Given the description of an element on the screen output the (x, y) to click on. 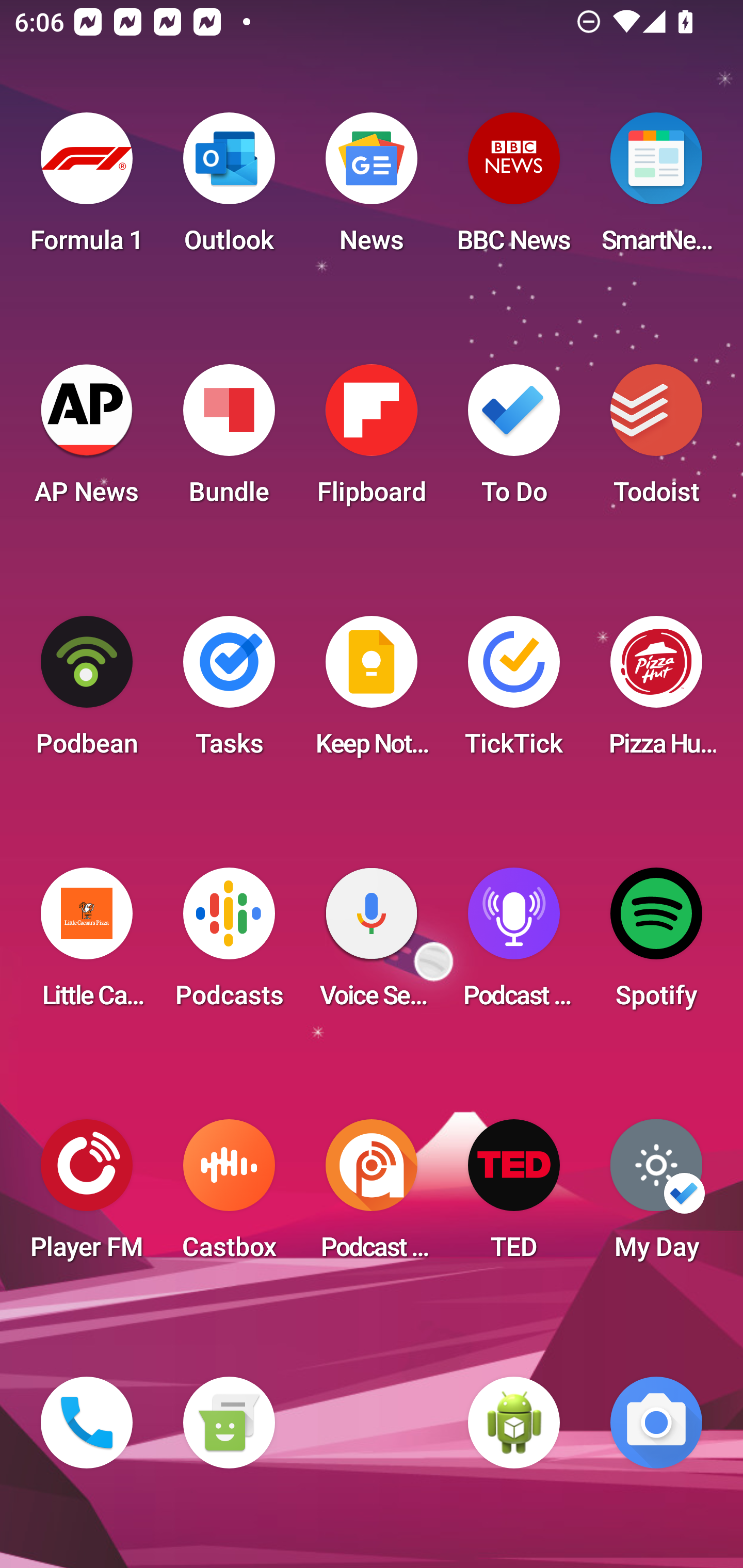
Formula 1 (86, 188)
Outlook (228, 188)
News (371, 188)
BBC News (513, 188)
SmartNews (656, 188)
AP News (86, 440)
Bundle (228, 440)
Flipboard (371, 440)
To Do (513, 440)
Todoist (656, 440)
Podbean (86, 692)
Tasks (228, 692)
Keep Notes (371, 692)
TickTick (513, 692)
Pizza Hut HK & Macau (656, 692)
Little Caesars Pizza (86, 943)
Podcasts (228, 943)
Voice Search (371, 943)
Podcast Player (513, 943)
Spotify (656, 943)
Player FM (86, 1195)
Castbox (228, 1195)
Podcast Addict (371, 1195)
TED (513, 1195)
My Day (656, 1195)
Phone (86, 1422)
Messaging (228, 1422)
WebView Browser Tester (513, 1422)
Camera (656, 1422)
